Given the description of an element on the screen output the (x, y) to click on. 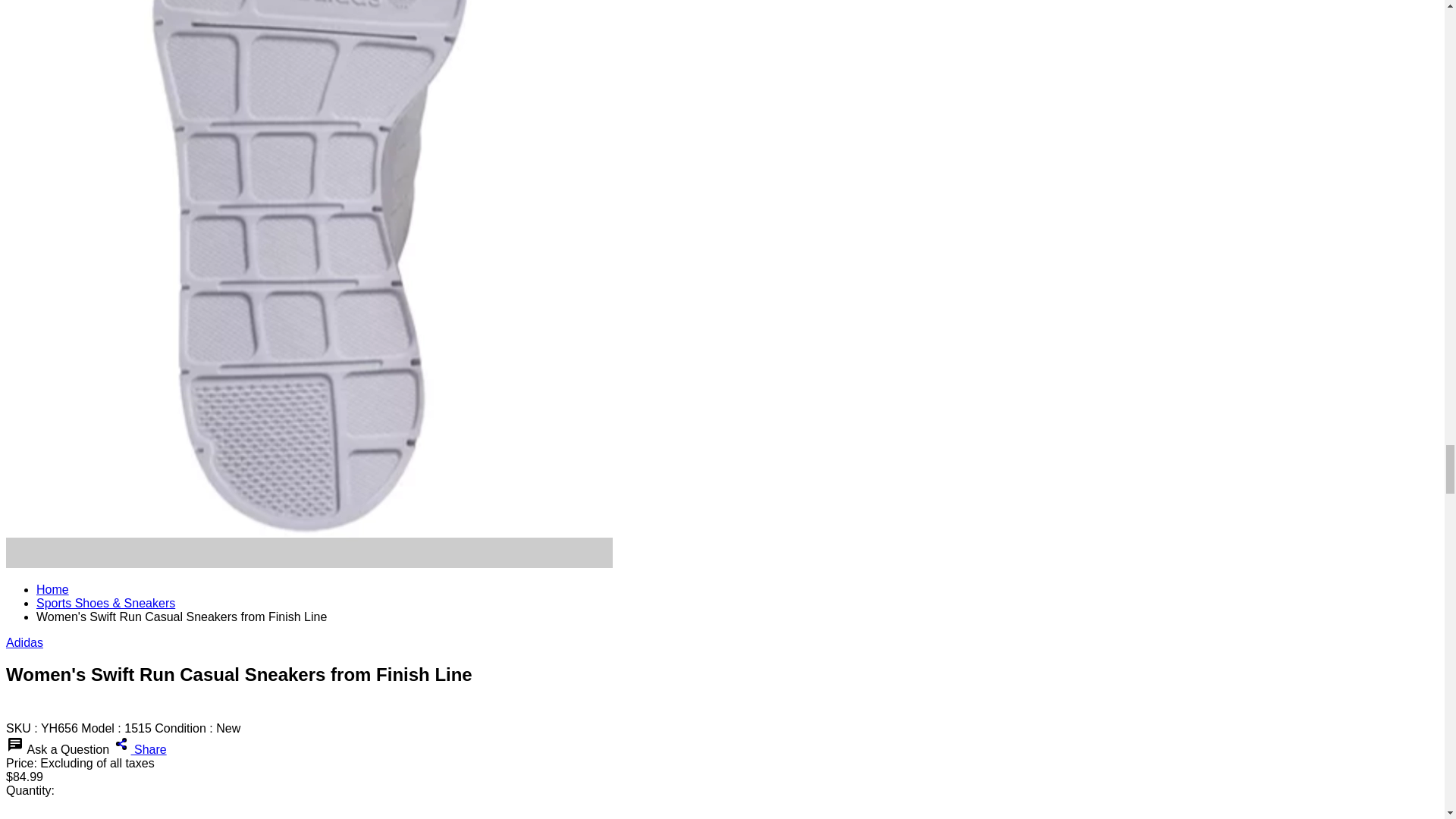
Back to the home page (52, 589)
Adidas (24, 642)
Home (52, 589)
